Given the description of an element on the screen output the (x, y) to click on. 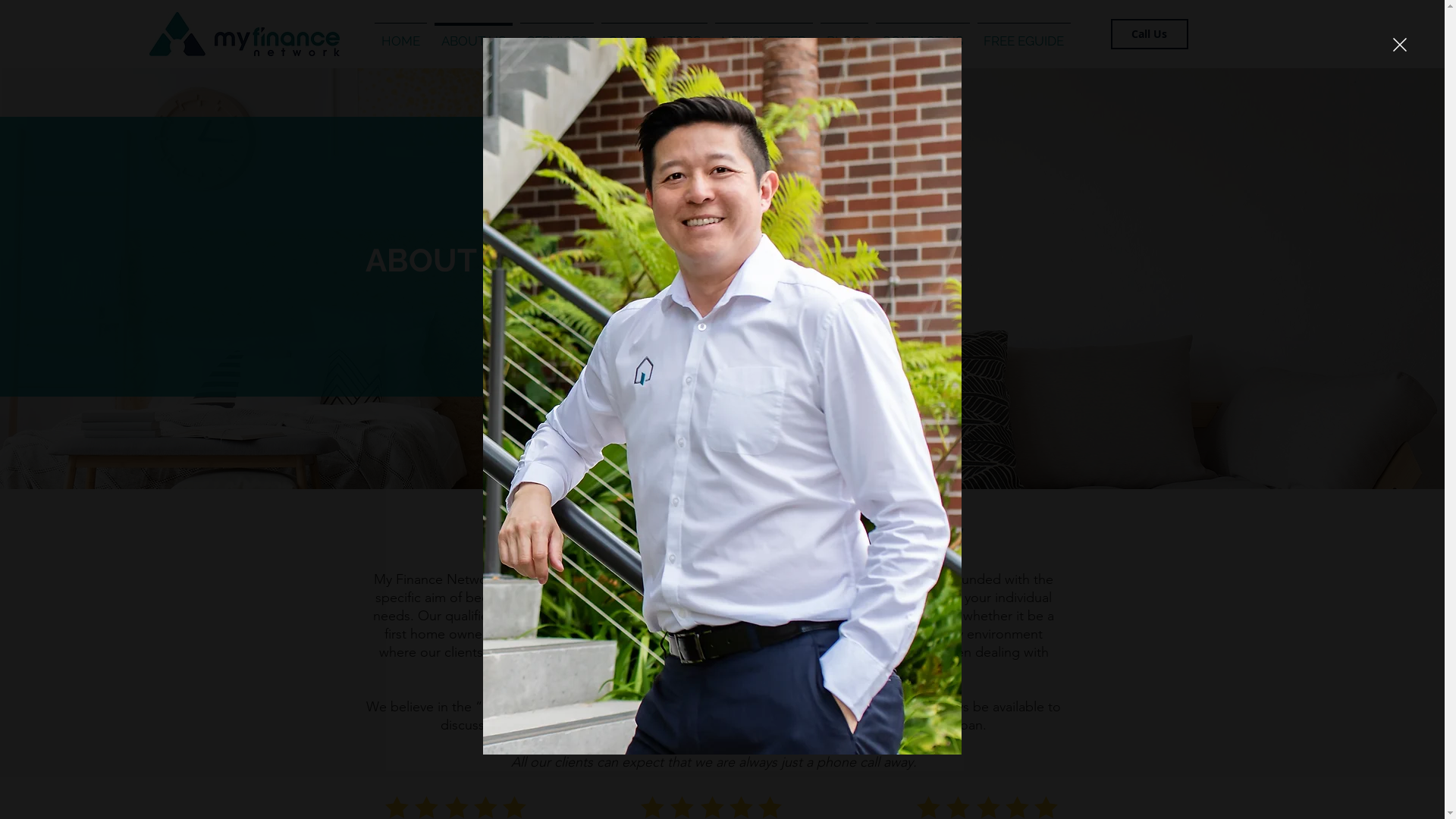
ABOUT US Element type: text (473, 34)
Call Us Element type: text (1148, 33)
TWIPLA (Visitor Analytics) Element type: hover (145, 104)
BLOG Element type: text (843, 34)
SERVICES Element type: text (555, 34)
FREE EGUIDE Element type: text (1023, 34)
CALCULATORS Element type: text (654, 34)
HOME Element type: text (399, 34)
NEWSLETTER Element type: text (763, 34)
CONTACT US Element type: text (922, 34)
